Given the description of an element on the screen output the (x, y) to click on. 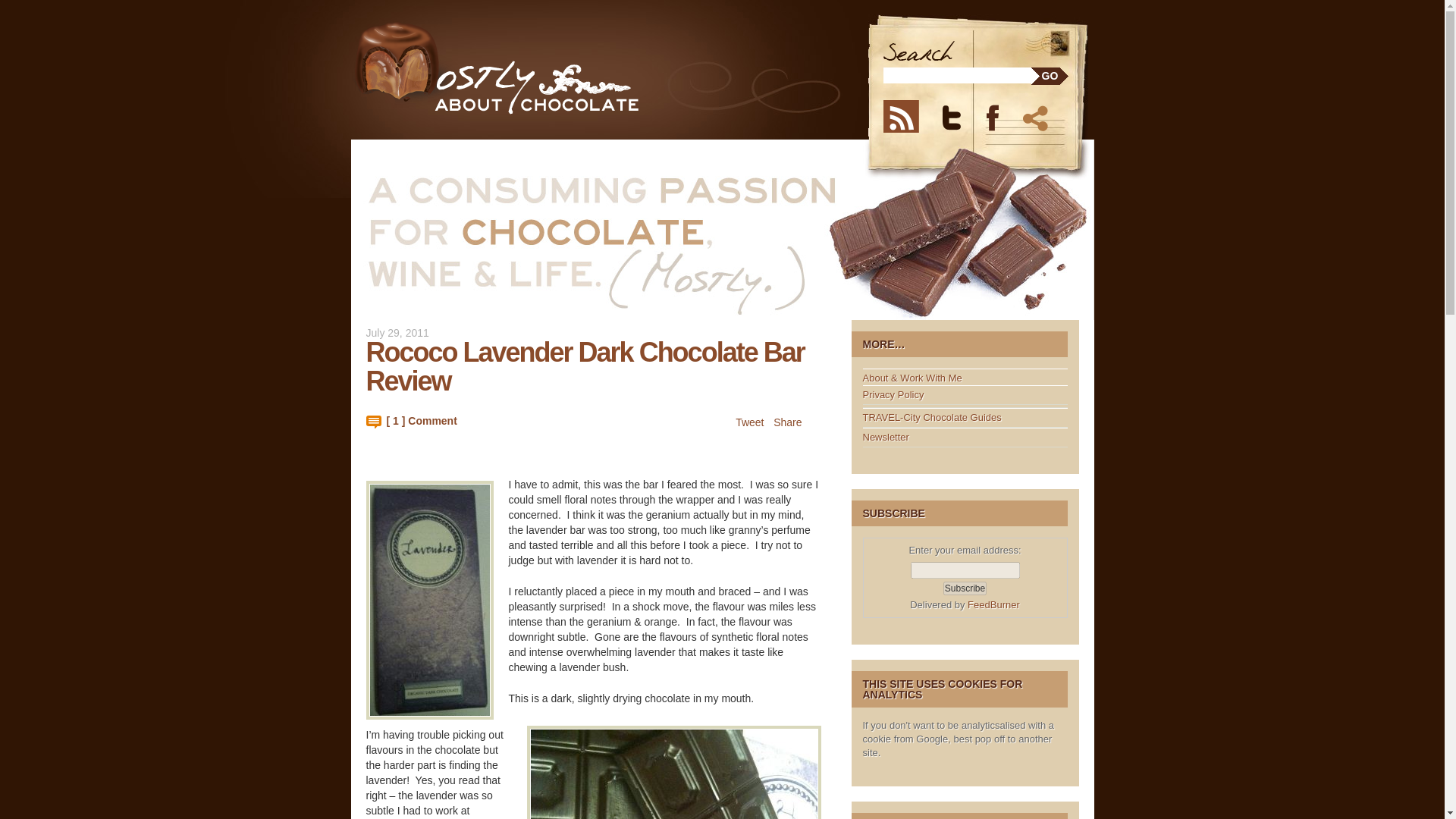
Twitter (960, 115)
rococo lavender chocolate bar (429, 599)
Mostly About Chocolate Blog (525, 67)
Share (787, 422)
rococo lavender chocolate bar (673, 772)
Tweet (748, 422)
Privacy Policy (893, 394)
TRAVEL-City Chocolate Guides (932, 417)
GO (1049, 76)
Subscribe (965, 588)
Share (1038, 115)
RSS (909, 115)
Newsletter (885, 437)
Subscribe (965, 588)
Mostly About Chocolate Blog (525, 67)
